Given the description of an element on the screen output the (x, y) to click on. 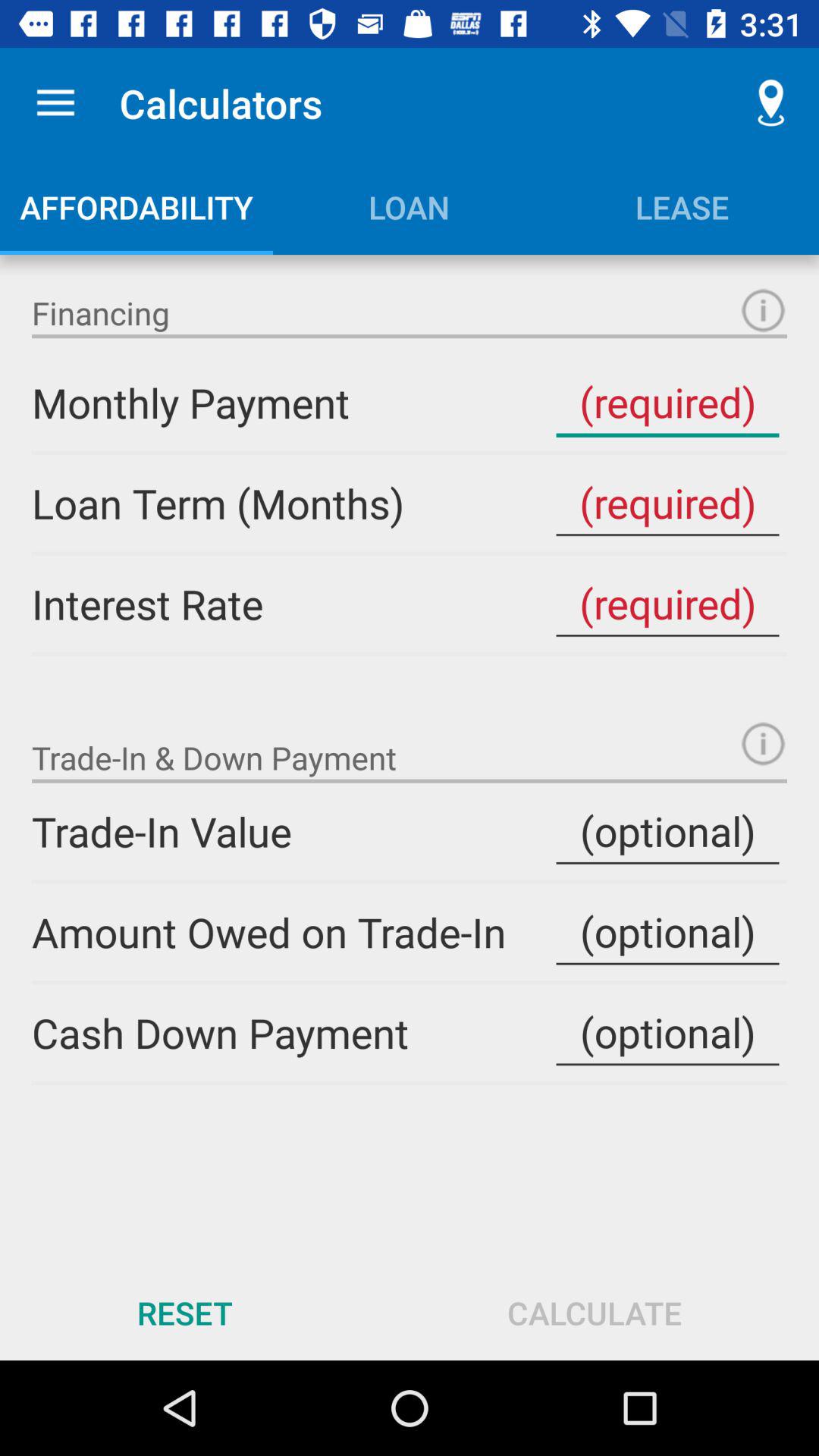
open the item to the left of calculate item (184, 1312)
